Given the description of an element on the screen output the (x, y) to click on. 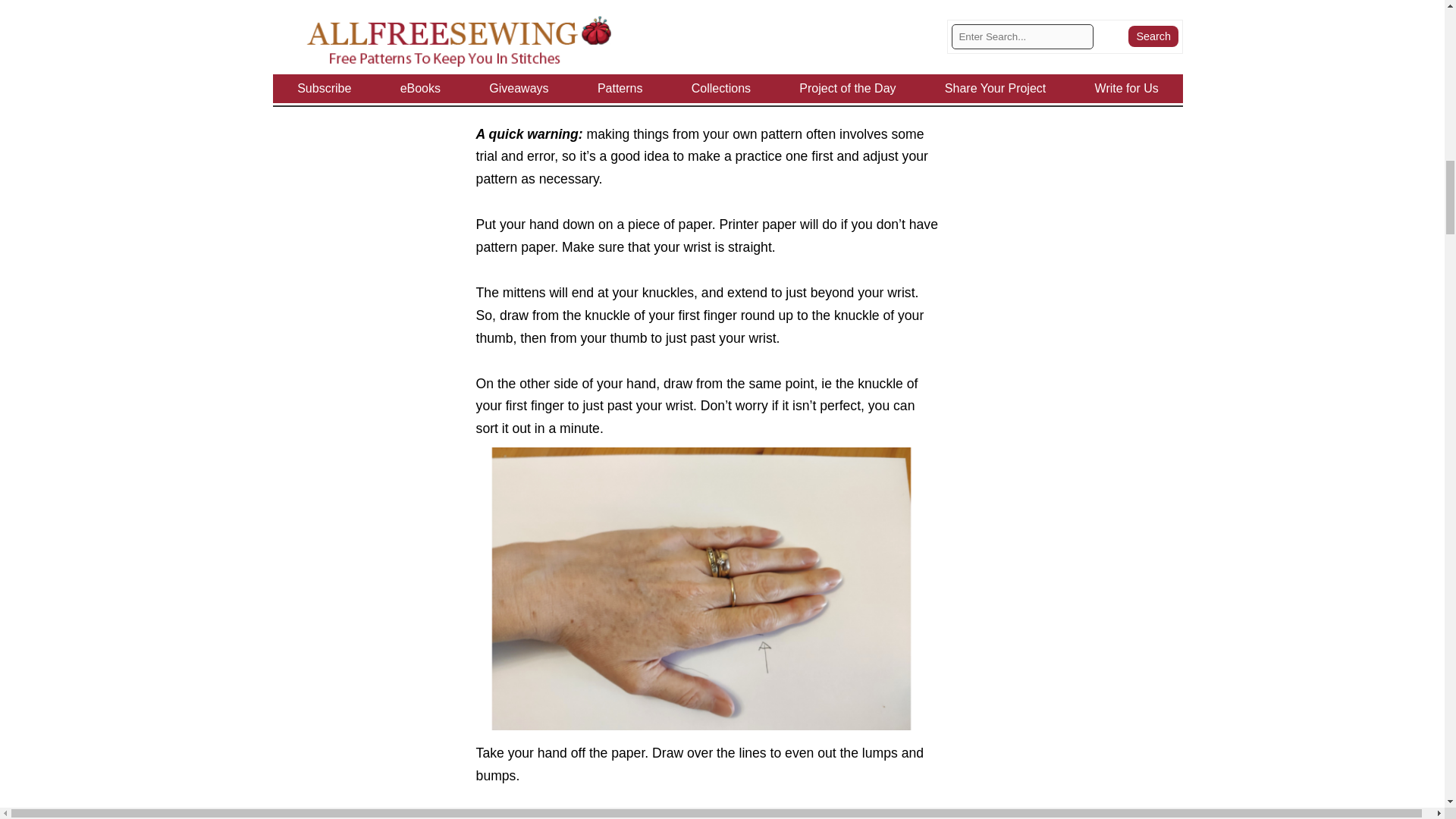
Lace Edged Fingerless Gloves - template being traced (701, 588)
